Given the description of an element on the screen output the (x, y) to click on. 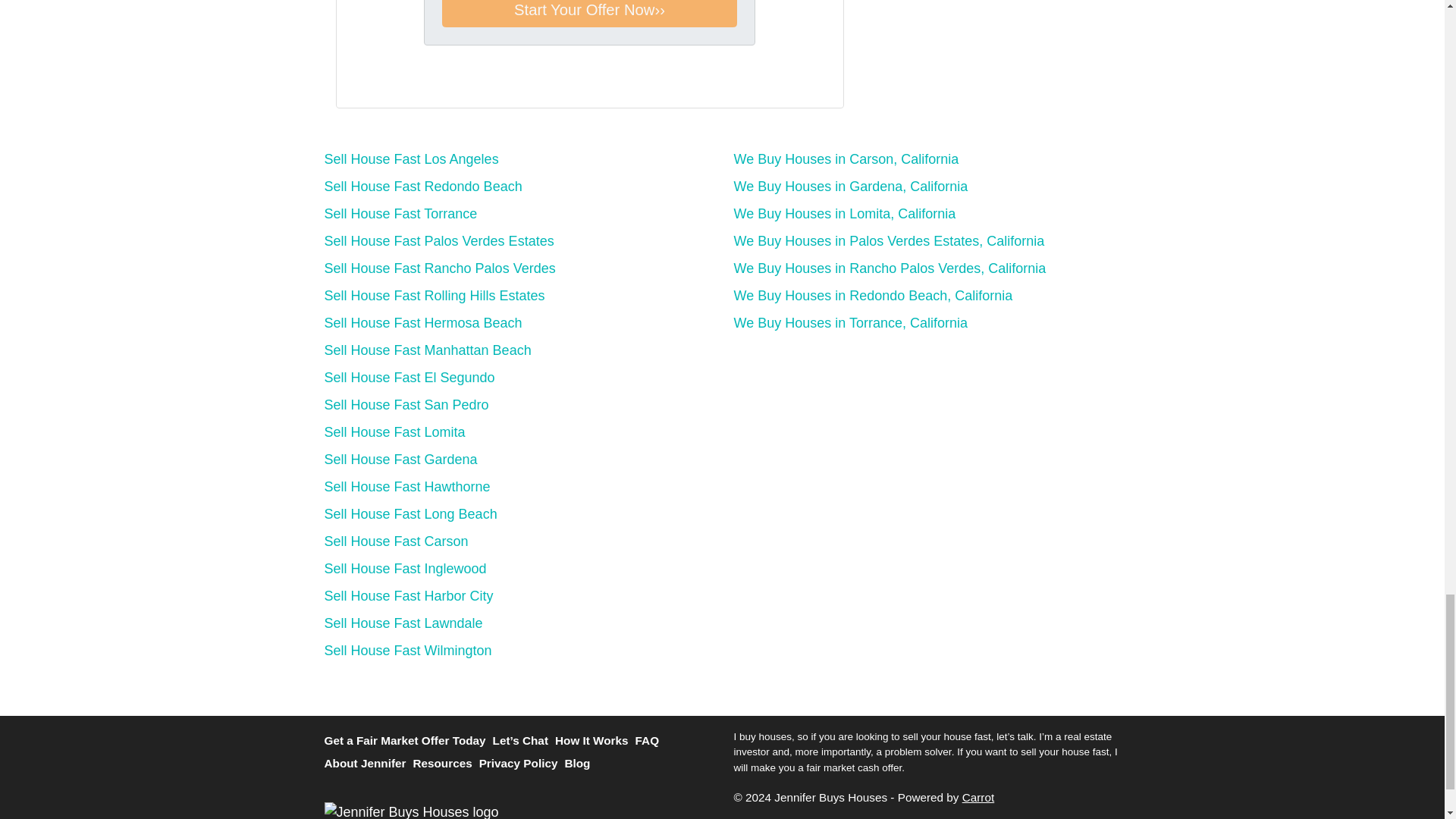
Facebook (383, 81)
YouTube (404, 81)
Houzz (489, 81)
Twitter (362, 81)
Zillow (468, 81)
LinkedIn (425, 81)
Instagram (447, 81)
